Given the description of an element on the screen output the (x, y) to click on. 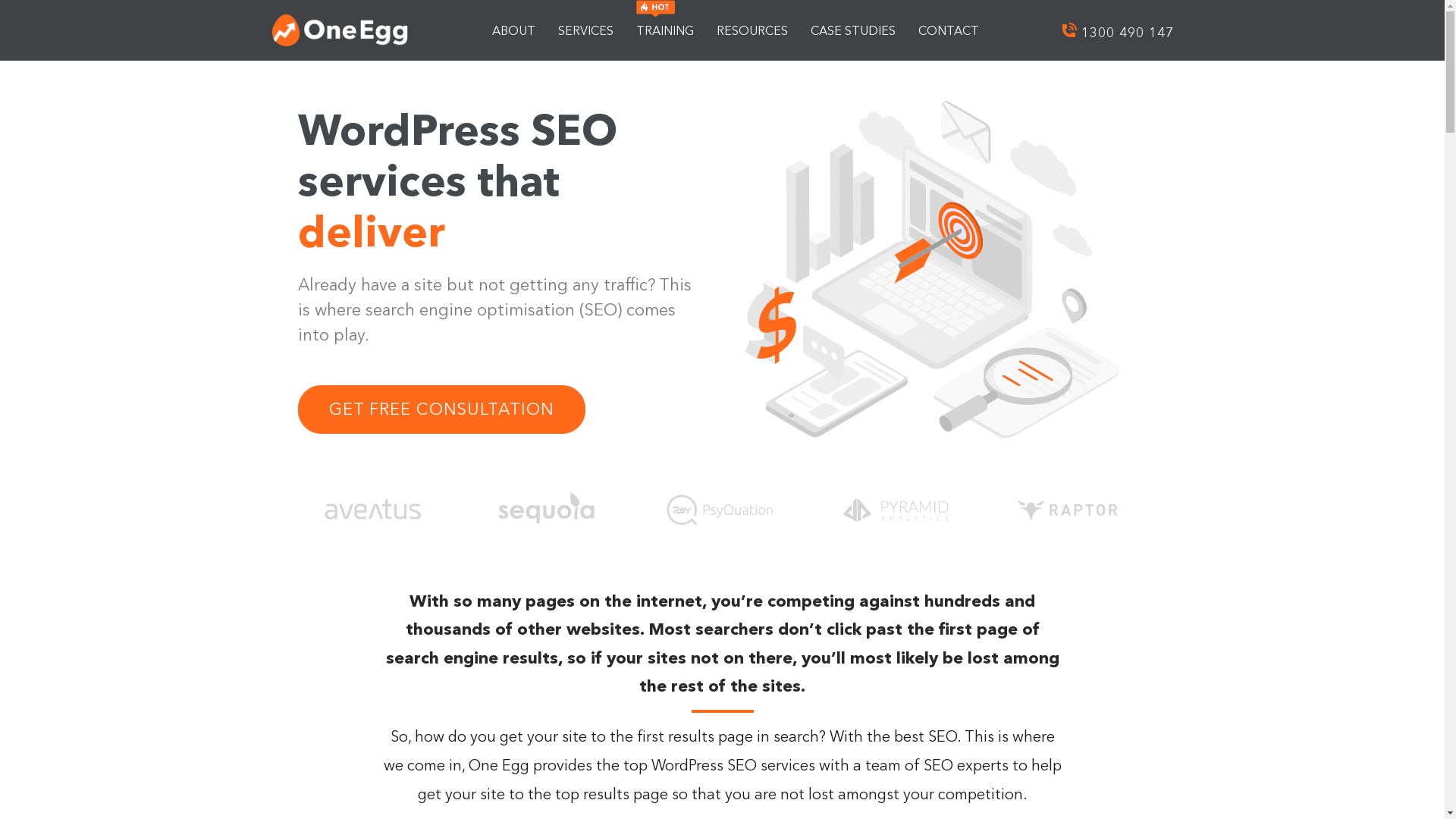
SERVICES Element type: text (585, 30)
CONTACT Element type: text (948, 30)
TRAINING Element type: text (664, 30)
CASE STUDIES Element type: text (852, 30)
ABOUT Element type: text (513, 30)
RESOURCES Element type: text (752, 30)
GET FREE CONSULTATION Element type: text (440, 409)
